Given the description of an element on the screen output the (x, y) to click on. 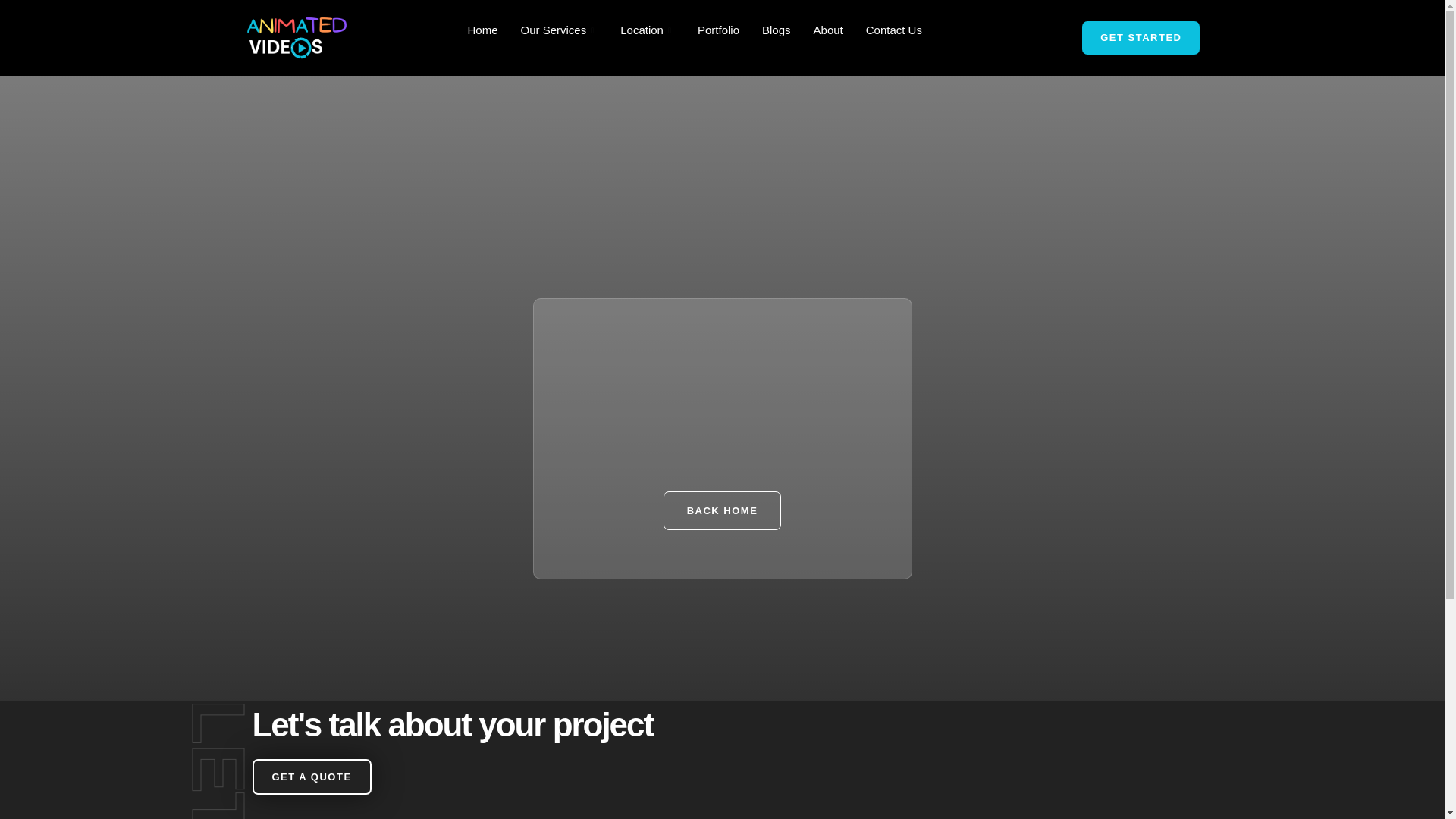
Contact Us (893, 30)
Blogs (776, 30)
Location (646, 30)
Portfolio (718, 30)
Home (481, 30)
Our Services (559, 30)
About (828, 30)
